Given the description of an element on the screen output the (x, y) to click on. 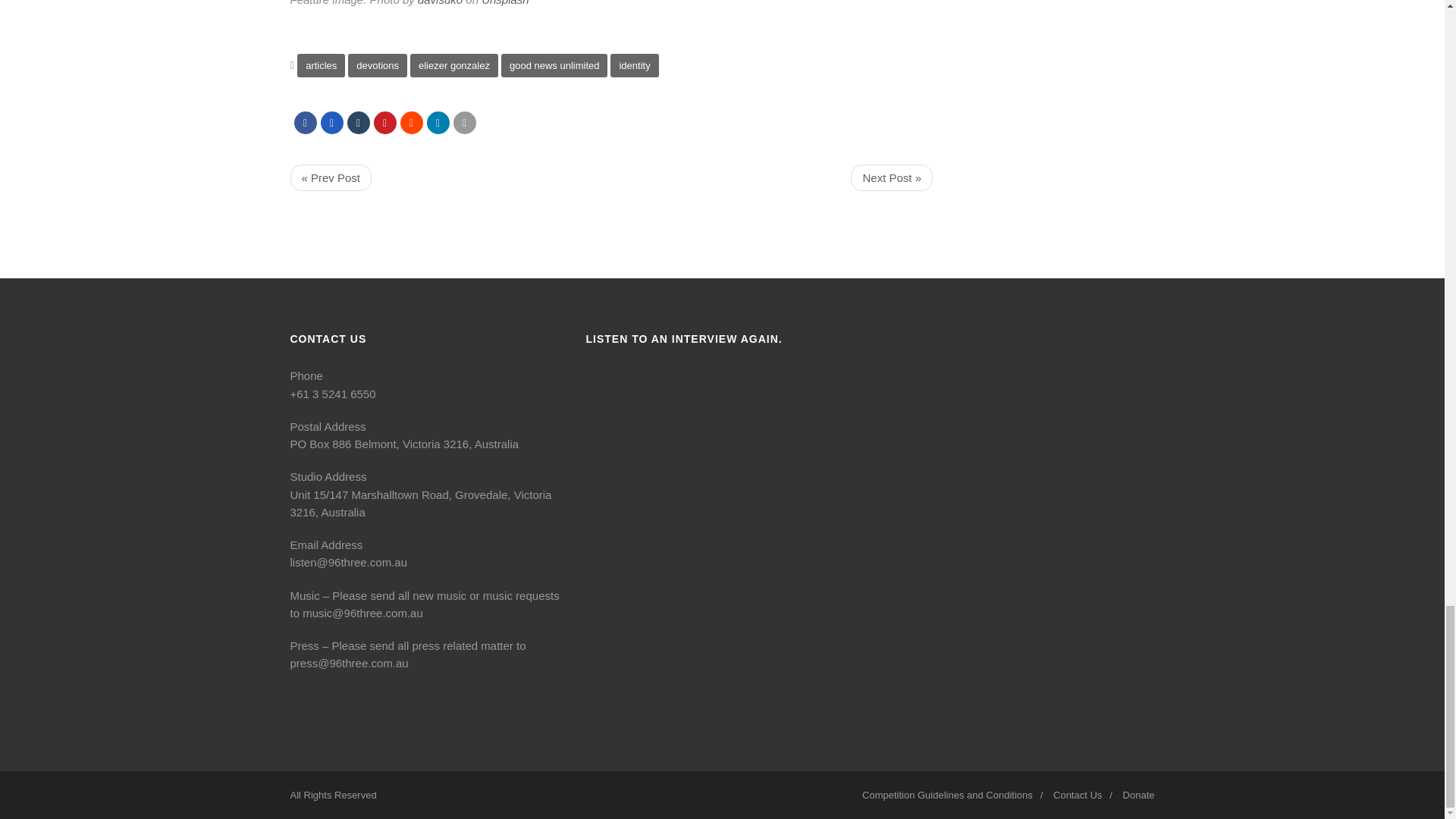
Post to Tumblr (358, 122)
Email (464, 122)
Share on Facebook (305, 122)
Share on Linkedin (437, 122)
Share on Linkedin (411, 122)
Pin it (384, 122)
